Given the description of an element on the screen output the (x, y) to click on. 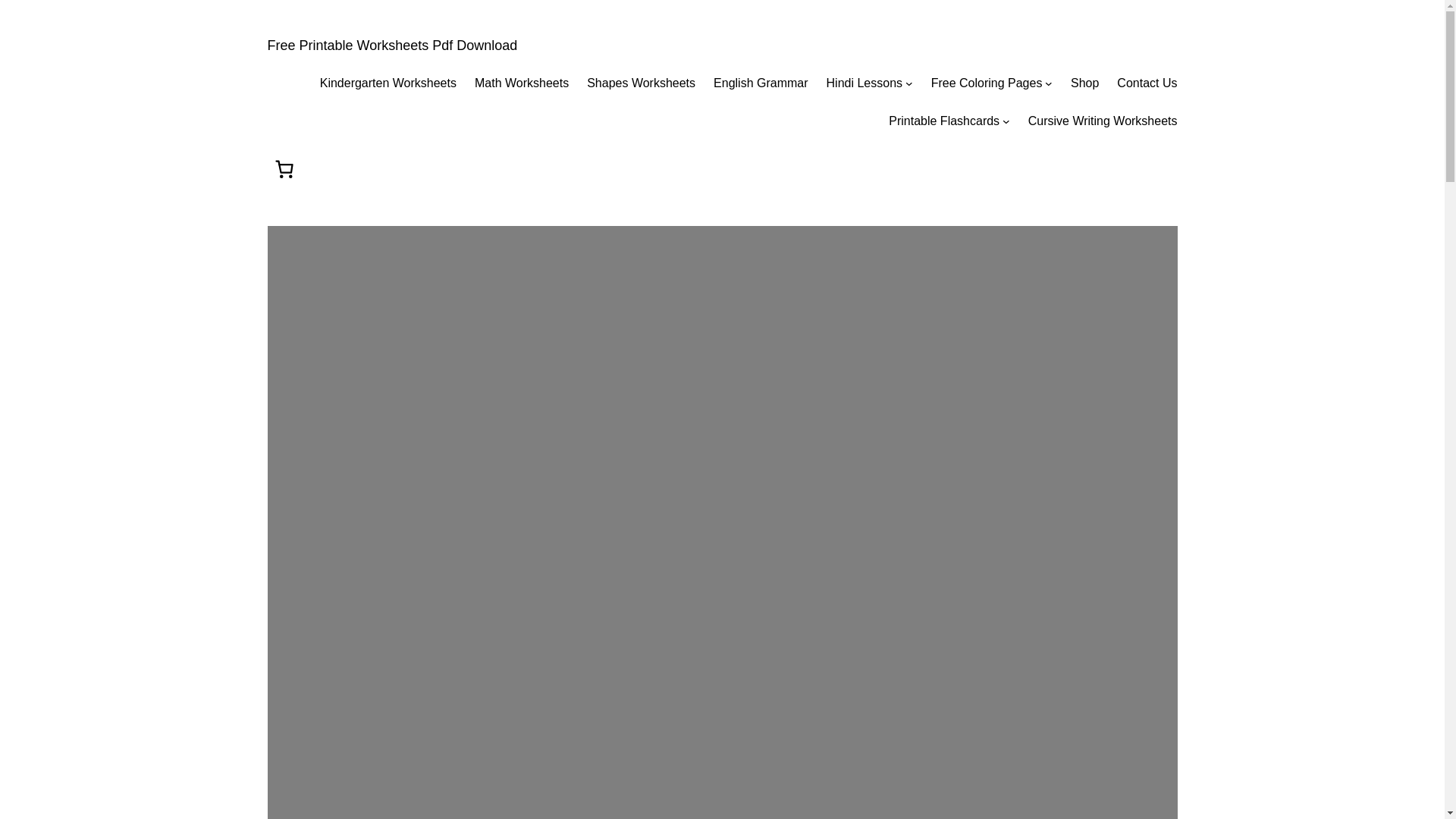
Free Printable Worksheets Pdf Download (391, 45)
Math Worksheets (521, 83)
Free Coloring Pages (986, 83)
Kindergarten Worksheets (388, 83)
Shop (1084, 83)
Cursive Writing Worksheets (1102, 121)
English Grammar (760, 83)
Hindi Lessons (864, 83)
Shapes Worksheets (640, 83)
Printable Flashcards (943, 121)
Contact Us (1146, 83)
